Given the description of an element on the screen output the (x, y) to click on. 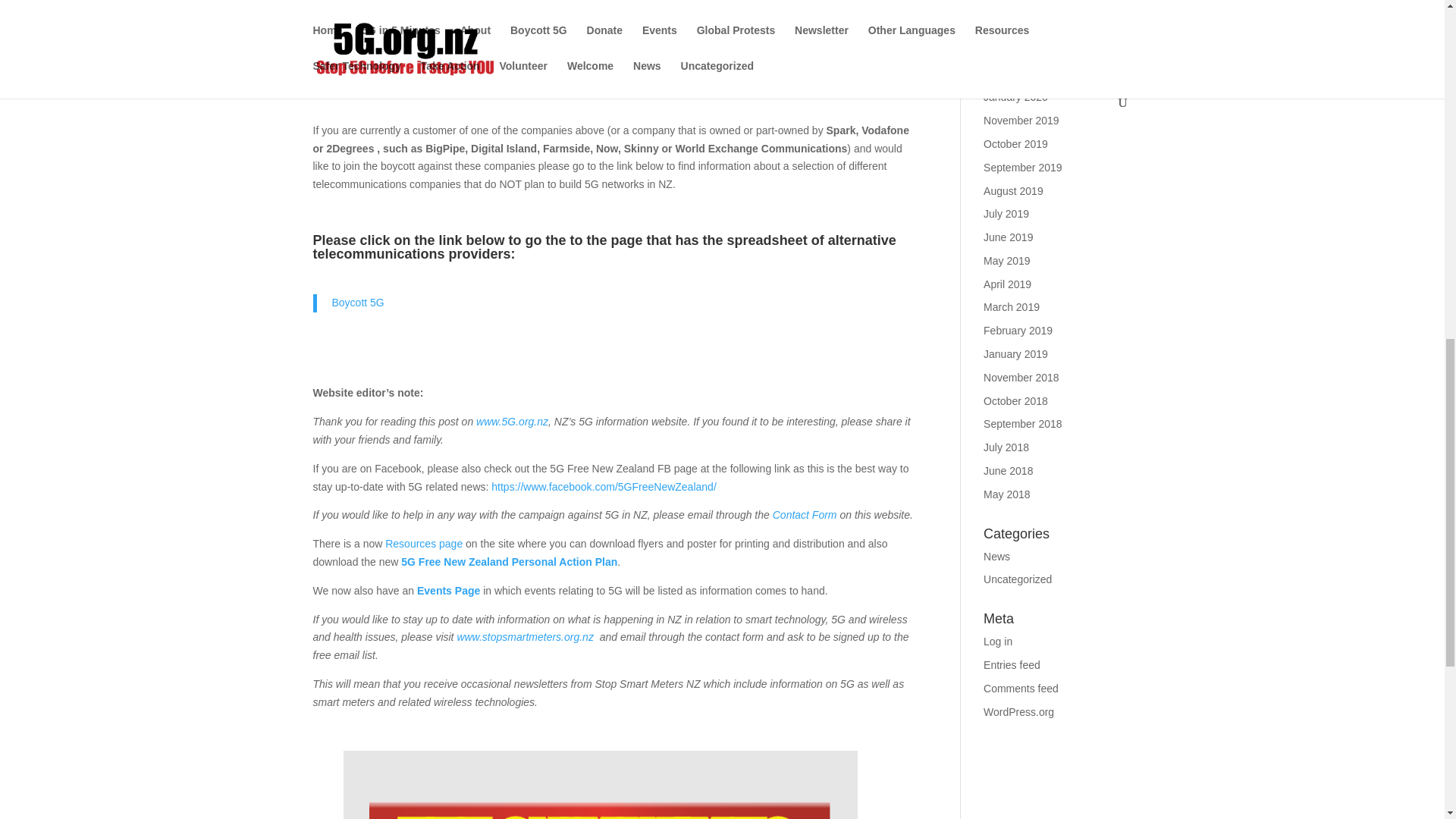
Events Page (446, 590)
www.5G.org.nz (512, 421)
Contact Form (805, 514)
Boycott 5G (357, 302)
Resources page (424, 543)
May 2020 (1006, 4)
www.stopsmartmeters.org.nz (525, 636)
5G Free New Zealand Personal Action Plan (509, 562)
